Given the description of an element on the screen output the (x, y) to click on. 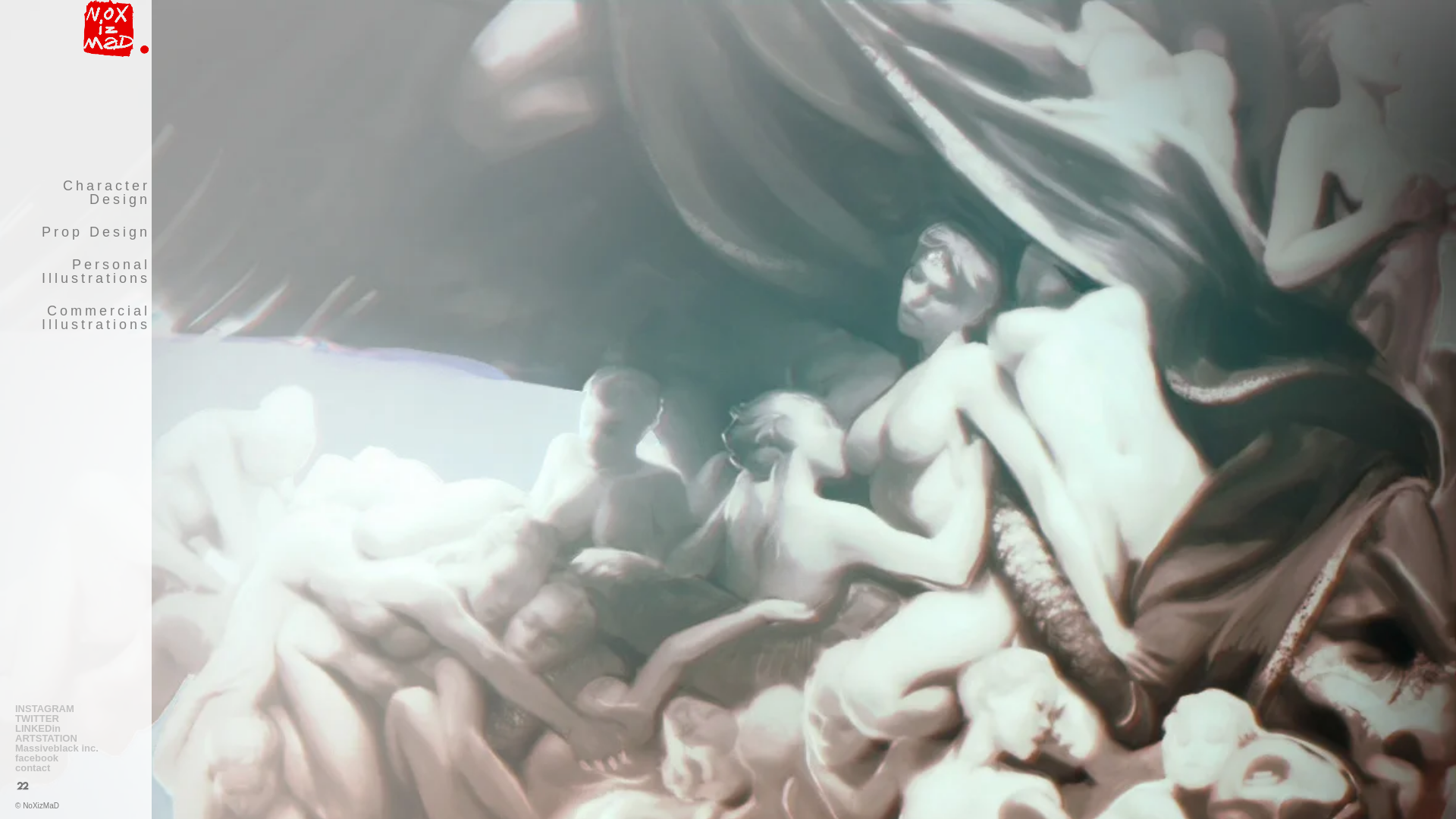
contact Element type: text (75, 767)
ARTSTATION Element type: text (75, 738)
Commercial Illustrations Element type: text (75, 317)
Character Design Element type: text (75, 192)
TWITTER Element type: text (75, 718)
INSTAGRAM Element type: text (75, 708)
Massiveblack inc. Element type: text (75, 748)
Prop Design Element type: text (75, 231)
LINKEDin Element type: text (75, 728)
Personal Illustrations Element type: text (75, 271)
facebook Element type: text (75, 757)
